Given the description of an element on the screen output the (x, y) to click on. 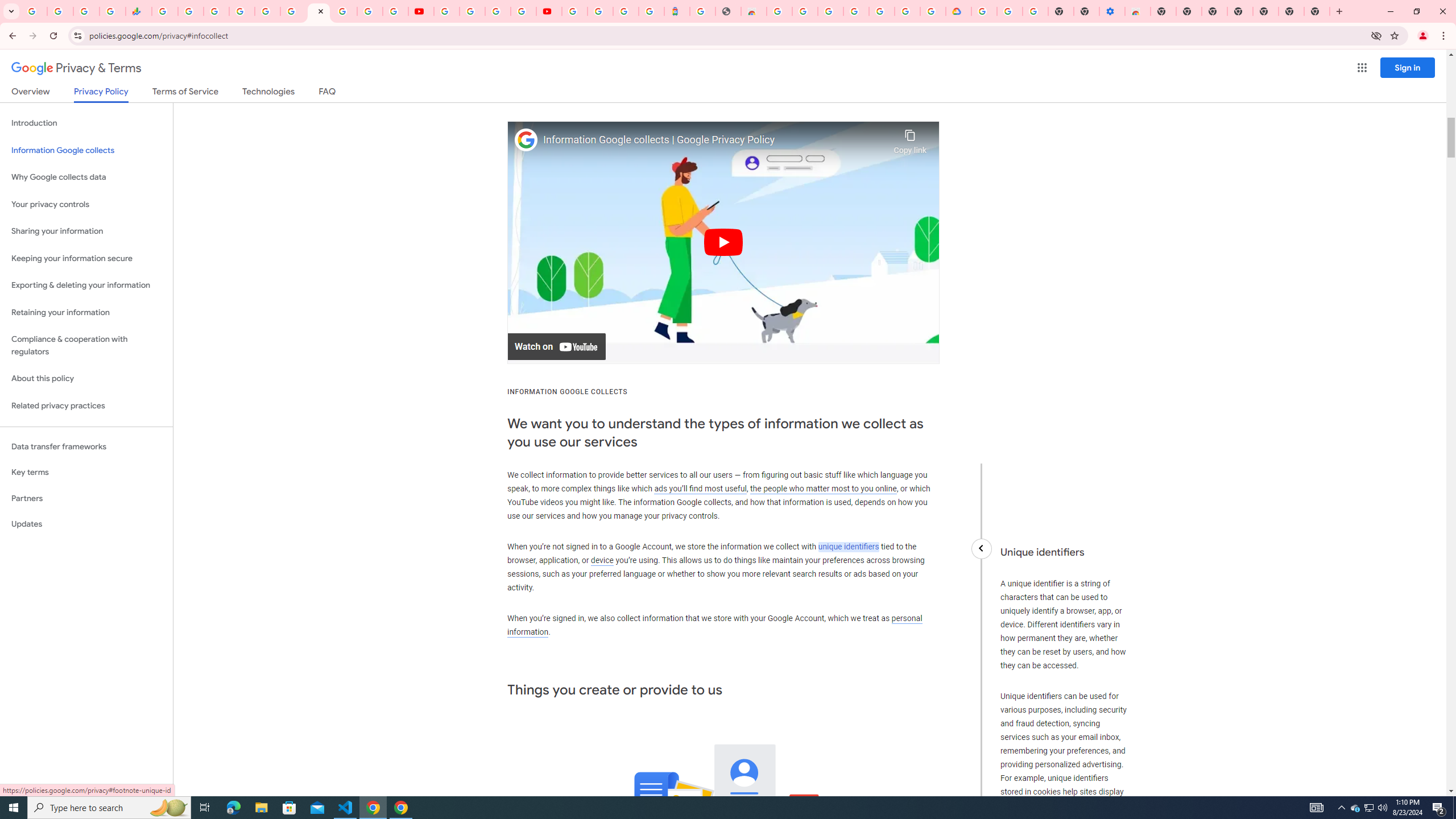
Photo image of Google (526, 139)
Information Google collects | Google Privacy Policy (715, 140)
New Tab (1265, 11)
Keeping your information secure (86, 258)
Sign in - Google Accounts (600, 11)
YouTube (421, 11)
Watch on YouTube (556, 346)
